Given the description of an element on the screen output the (x, y) to click on. 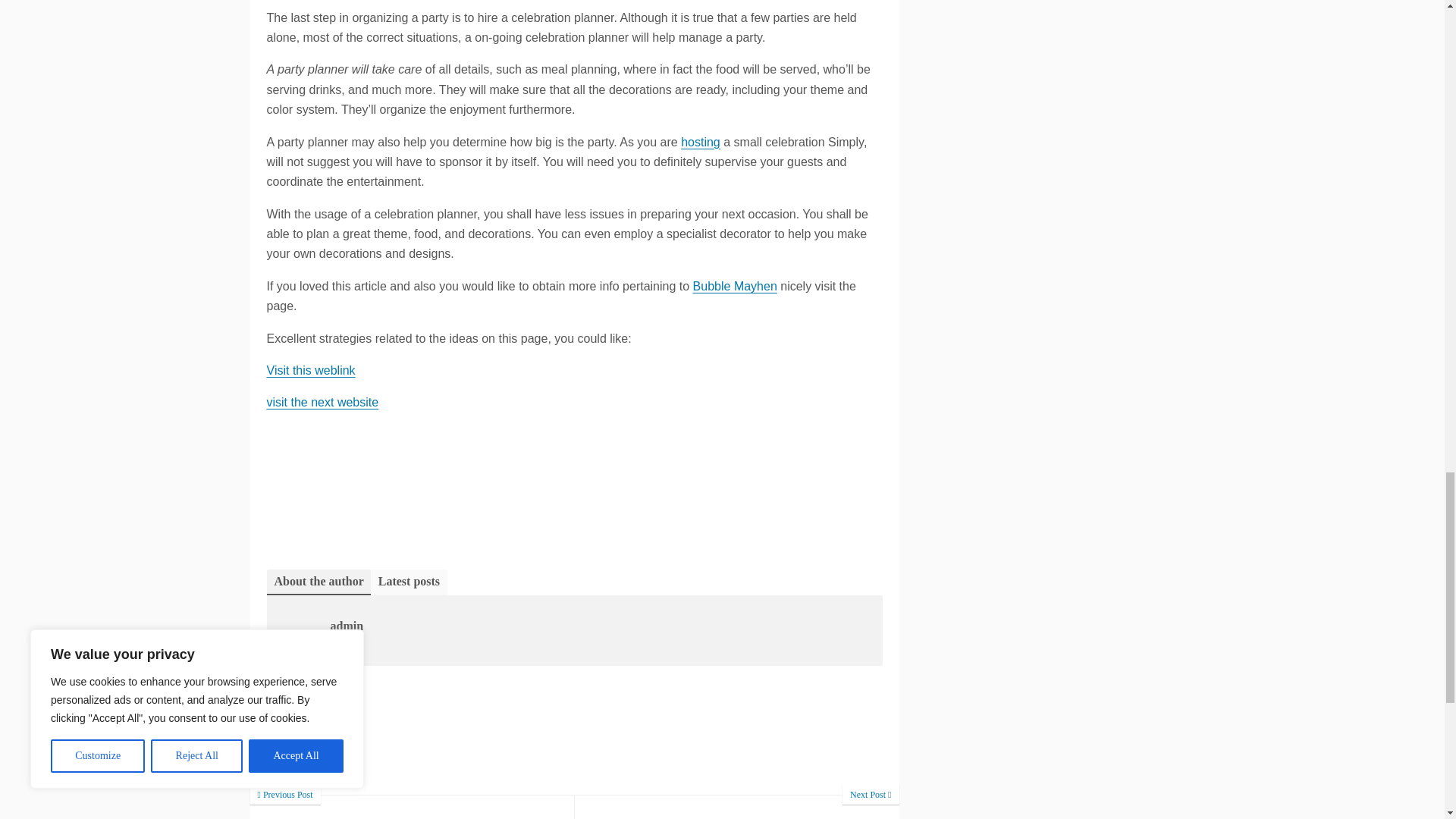
Visit this weblink (310, 369)
visit the next website (322, 401)
hosting (700, 141)
General (307, 701)
Making A Custom T-Shirt (737, 806)
Bubble Mayhen (735, 286)
